Given the description of an element on the screen output the (x, y) to click on. 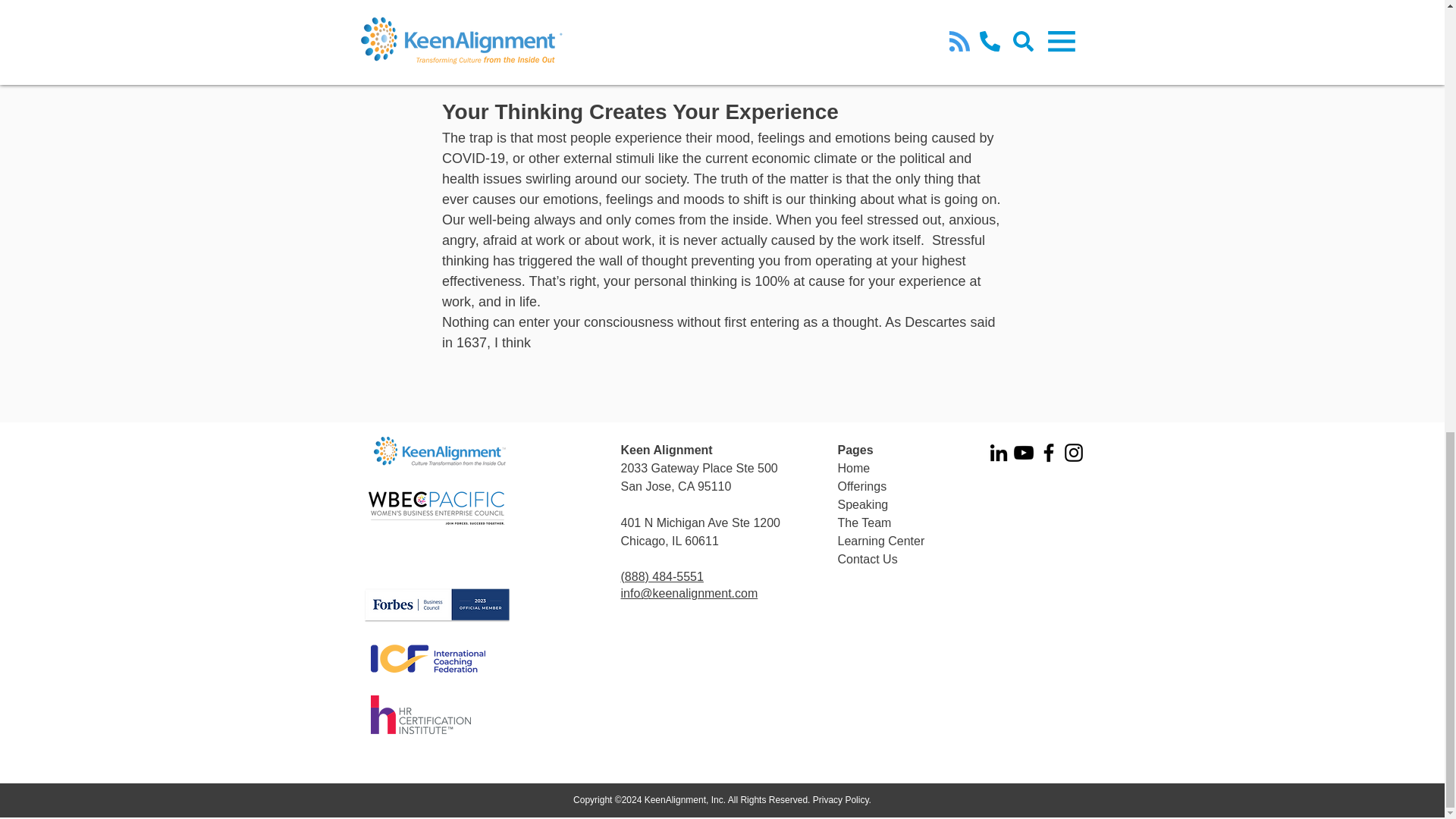
Contact Us (866, 558)
The Team (864, 522)
FBC-Signature.png (437, 605)
Learning Center (880, 540)
Speaking (862, 504)
Offerings (861, 486)
Home (853, 468)
